Given the description of an element on the screen output the (x, y) to click on. 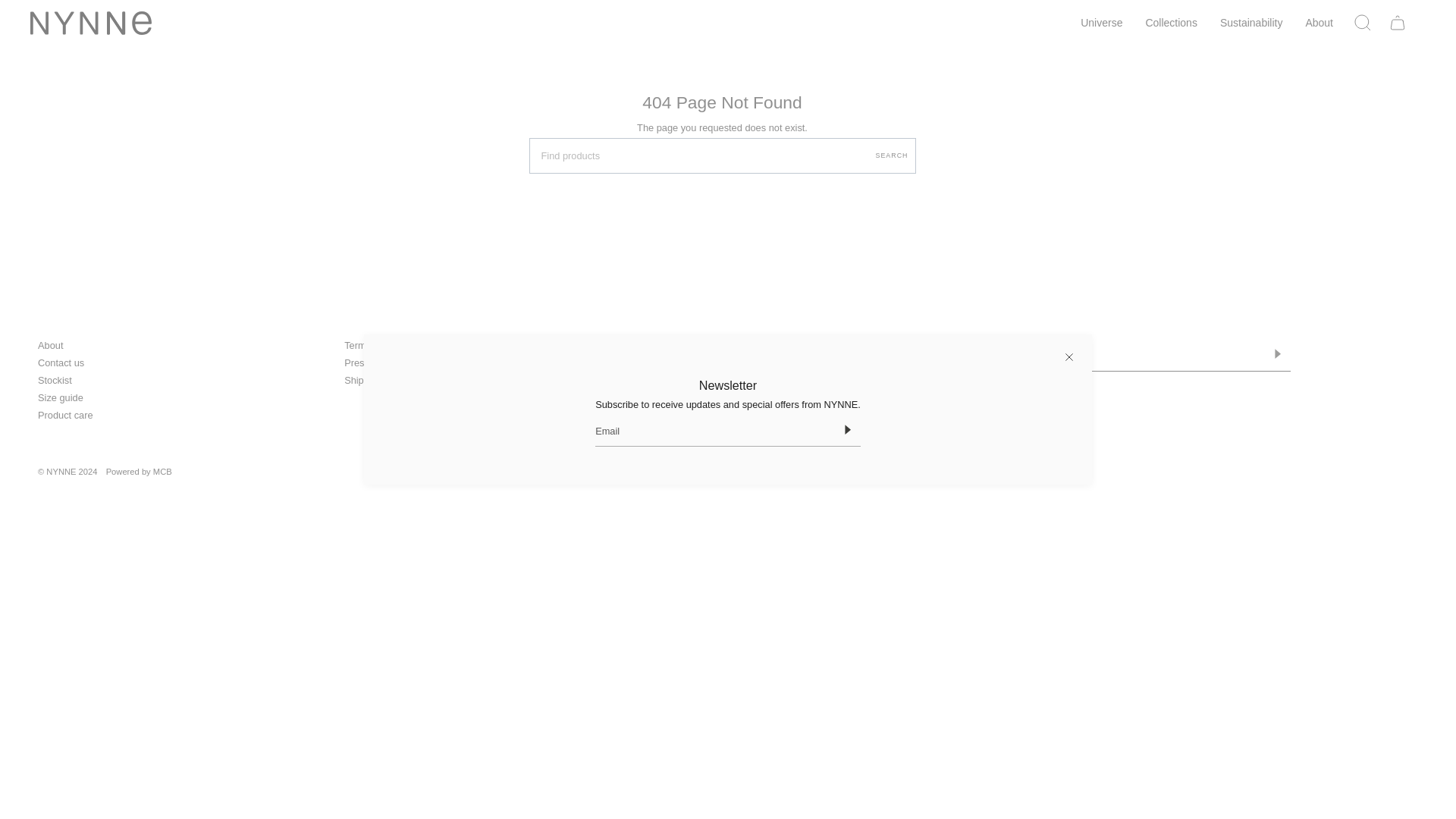
Collections (1171, 22)
Close (1069, 356)
About (1318, 22)
Universe (1101, 22)
Sustainability (1251, 22)
